Given the description of an element on the screen output the (x, y) to click on. 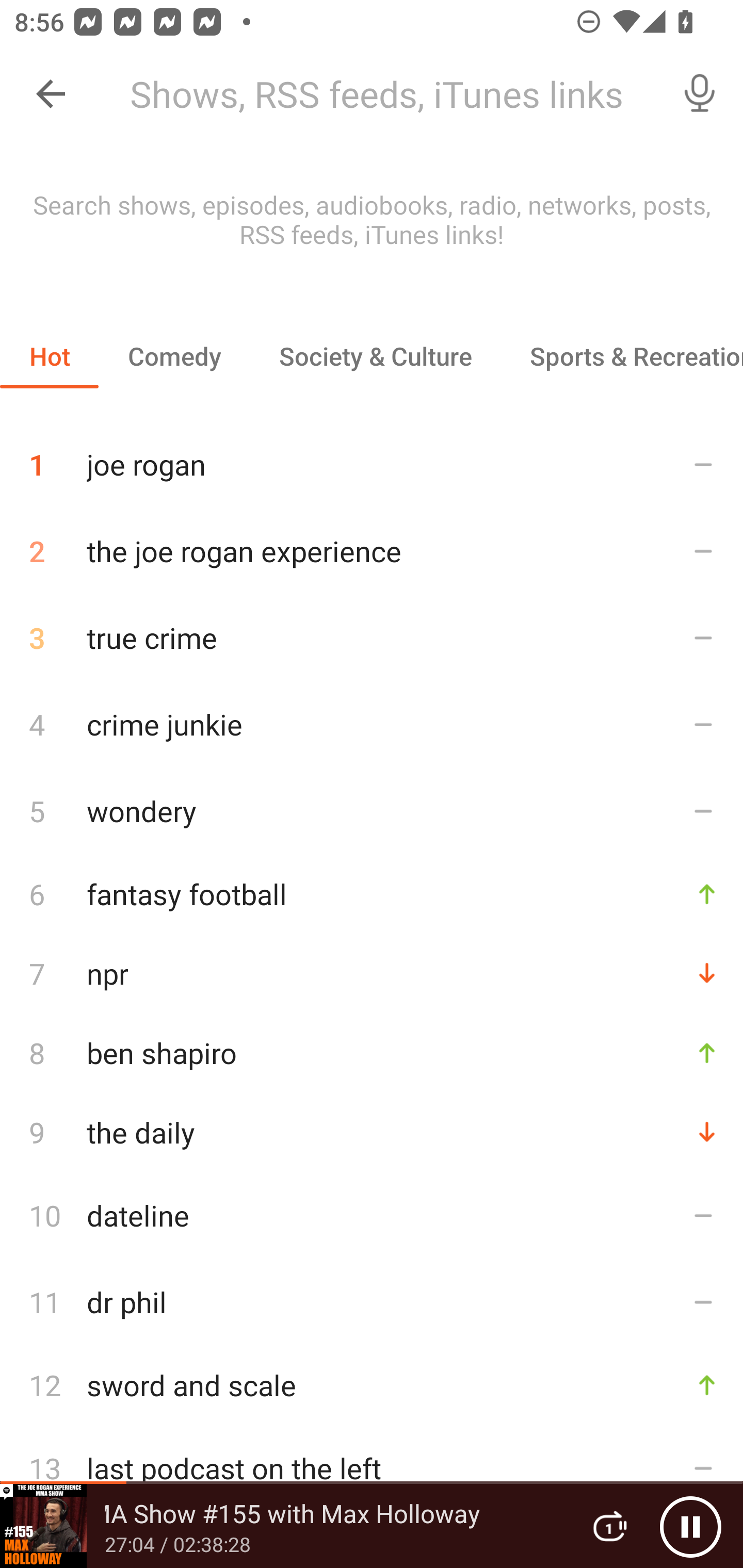
Collapse (50, 93)
Voice Search (699, 93)
Shows, RSS feeds, iTunes links (385, 94)
Hot (49, 355)
Comedy (173, 355)
Society & Culture (374, 355)
Sports & Recreation (621, 355)
1 joe rogan (371, 457)
2 the joe rogan experience (371, 551)
3 true crime (371, 637)
4 crime junkie (371, 723)
5 wondery (371, 810)
6 fantasy football (371, 893)
7 npr (371, 972)
8 ben shapiro (371, 1052)
9 the daily (371, 1131)
10 dateline (371, 1215)
11 dr phil (371, 1302)
12 sword and scale (371, 1385)
13 last podcast on the left (371, 1468)
Pause (690, 1526)
